Given the description of an element on the screen output the (x, y) to click on. 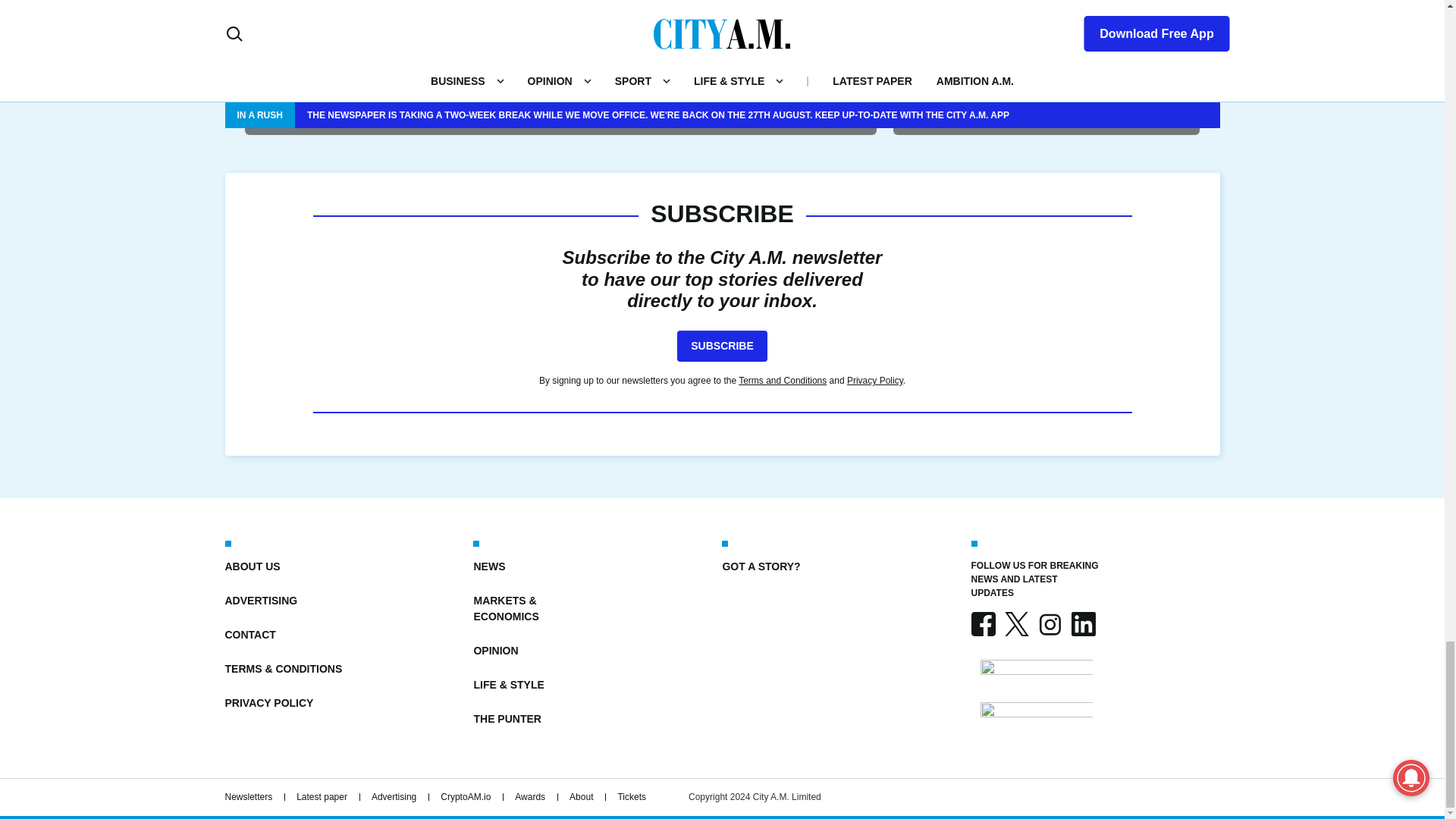
X (1015, 623)
LINKEDIN (1082, 623)
INSTAGRAM (1048, 623)
FACEBOOK (982, 623)
